Given the description of an element on the screen output the (x, y) to click on. 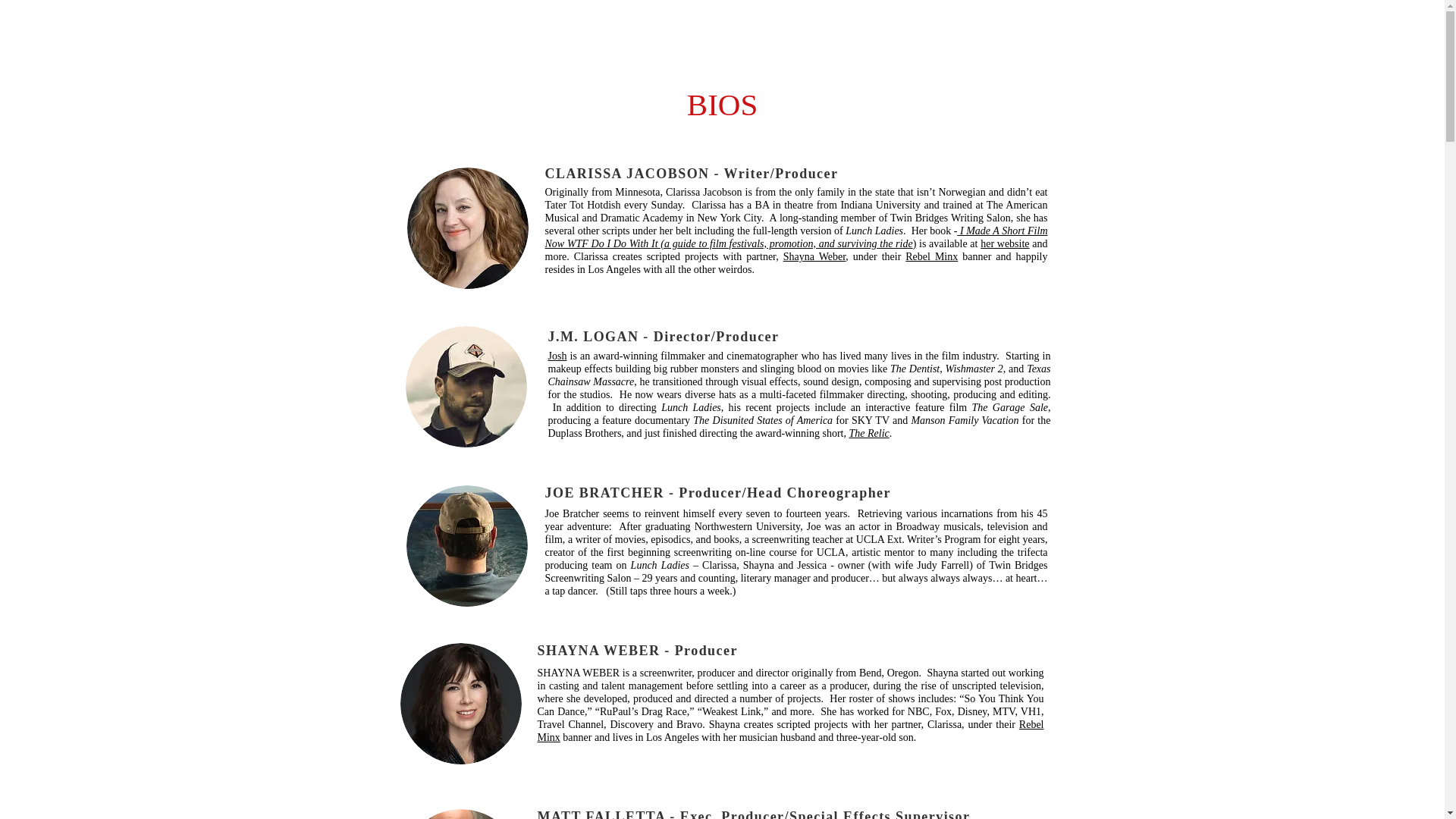
Shayna Weber (814, 256)
Rebel Minx (931, 256)
her website (1004, 243)
The Relic (868, 432)
Josh (556, 355)
Rebel Minx (790, 730)
